Given the description of an element on the screen output the (x, y) to click on. 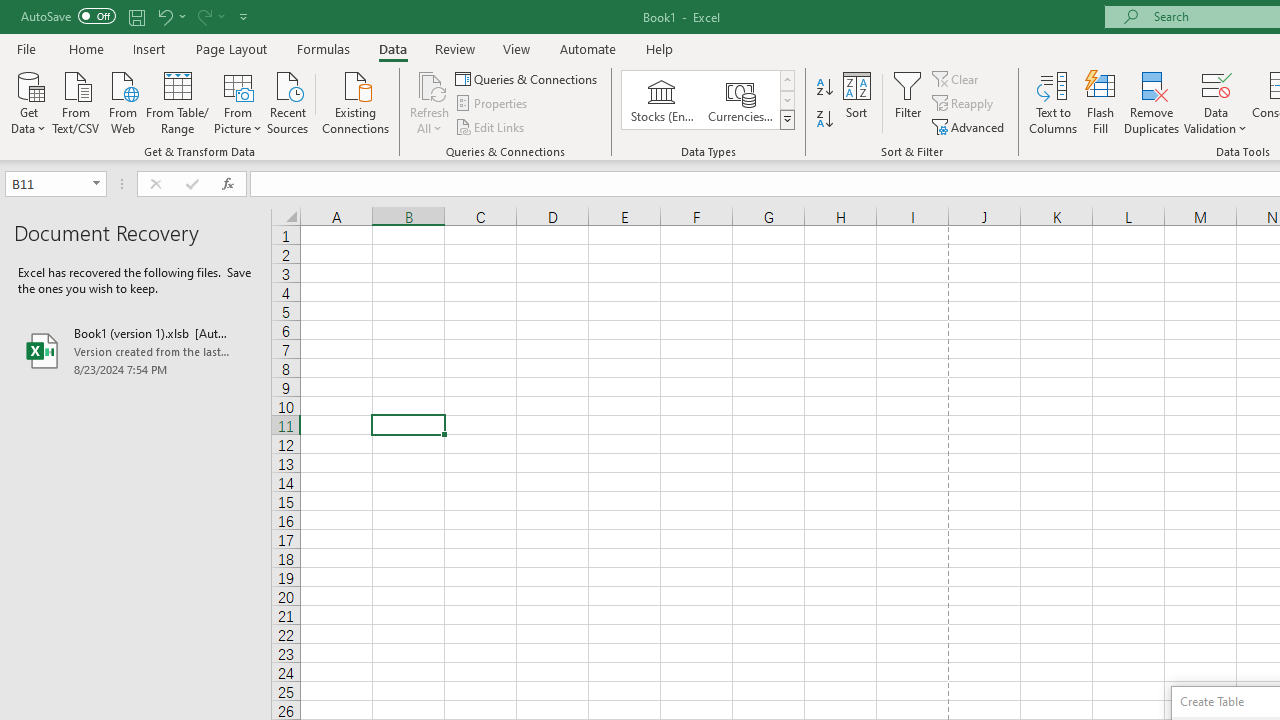
Get Data (28, 101)
Recent Sources (287, 101)
Data Types (786, 120)
Stocks (English) (662, 100)
Reapply (964, 103)
Advanced... (970, 126)
Edit Links (491, 126)
